Given the description of an element on the screen output the (x, y) to click on. 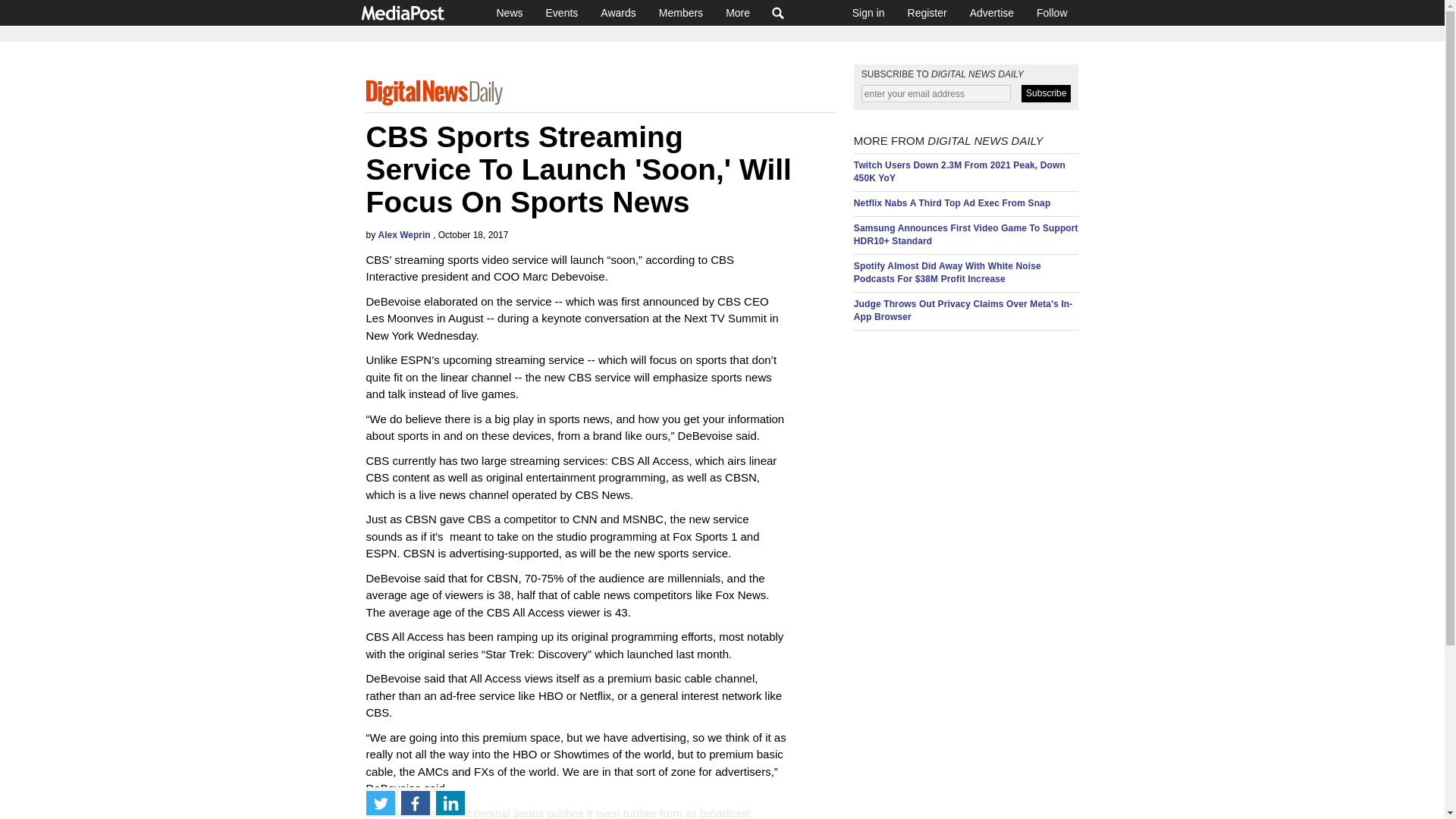
Share on LinkedIn (449, 802)
Share on Twitter (379, 802)
Share on Facebook (414, 802)
News (509, 12)
Subscribe (1046, 93)
